Given the description of an element on the screen output the (x, y) to click on. 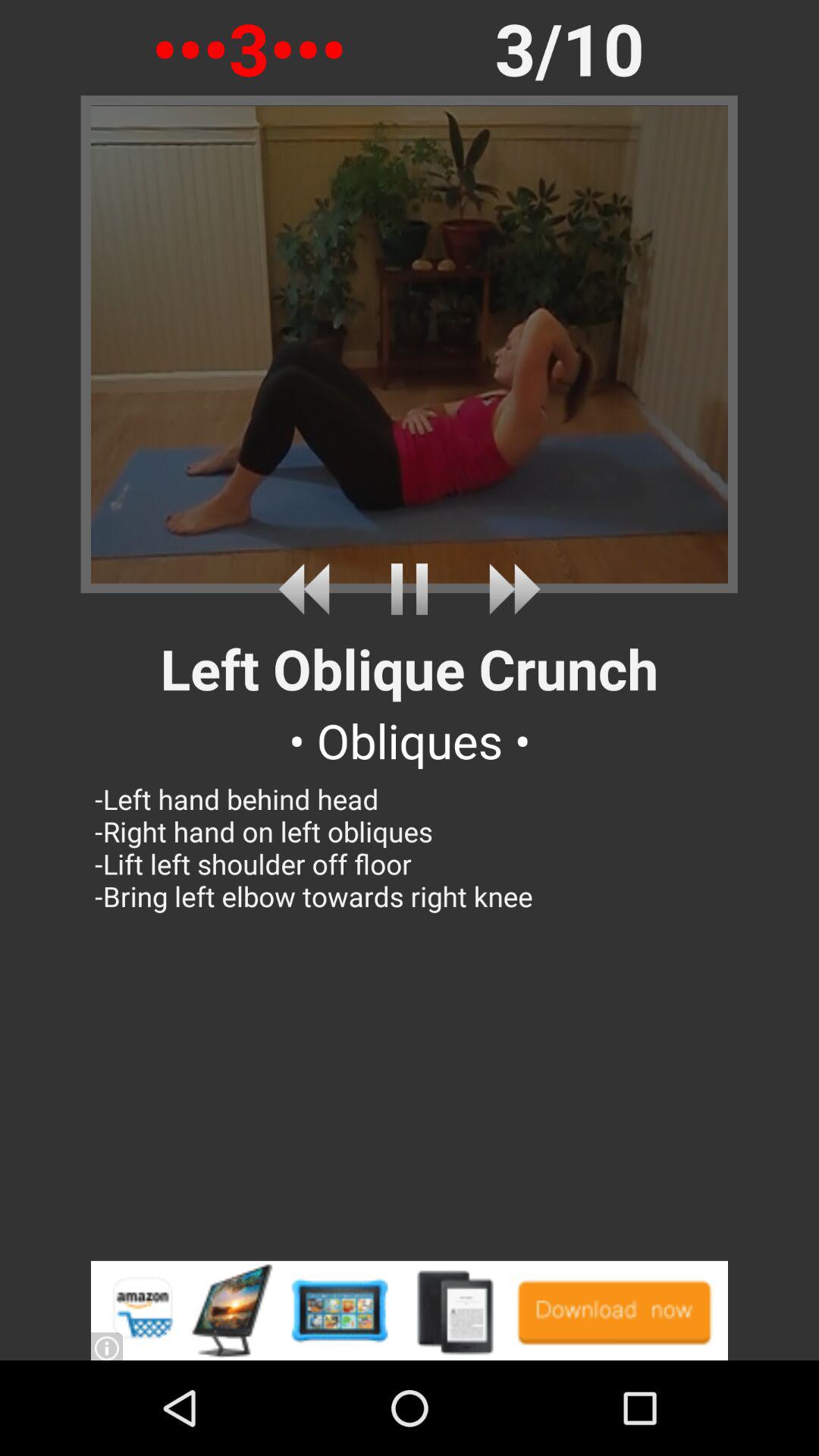
go forward (508, 589)
